Given the description of an element on the screen output the (x, y) to click on. 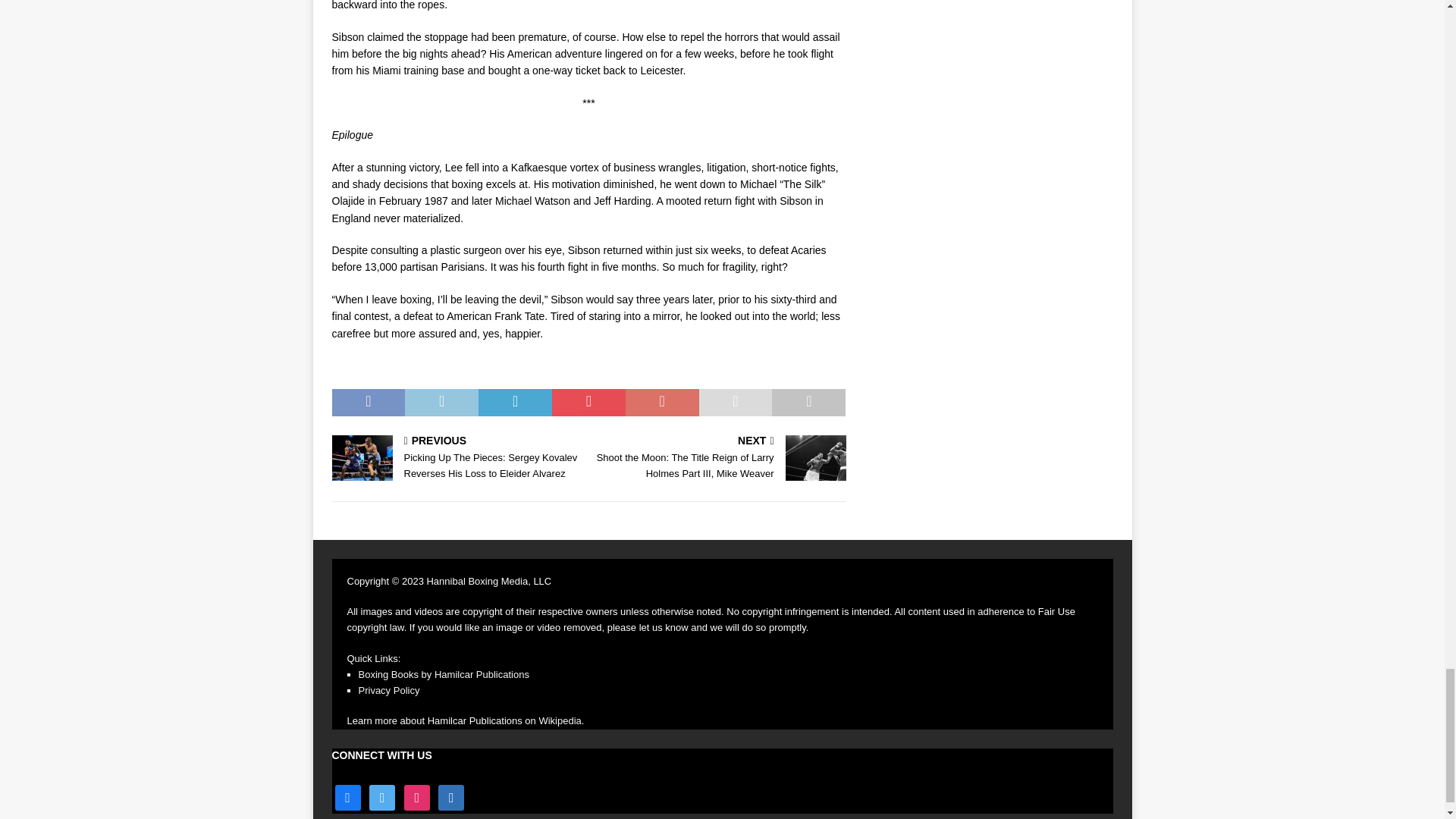
Default Label (451, 797)
Facebook (347, 797)
Twitter (381, 797)
Instagram (416, 797)
